Given the description of an element on the screen output the (x, y) to click on. 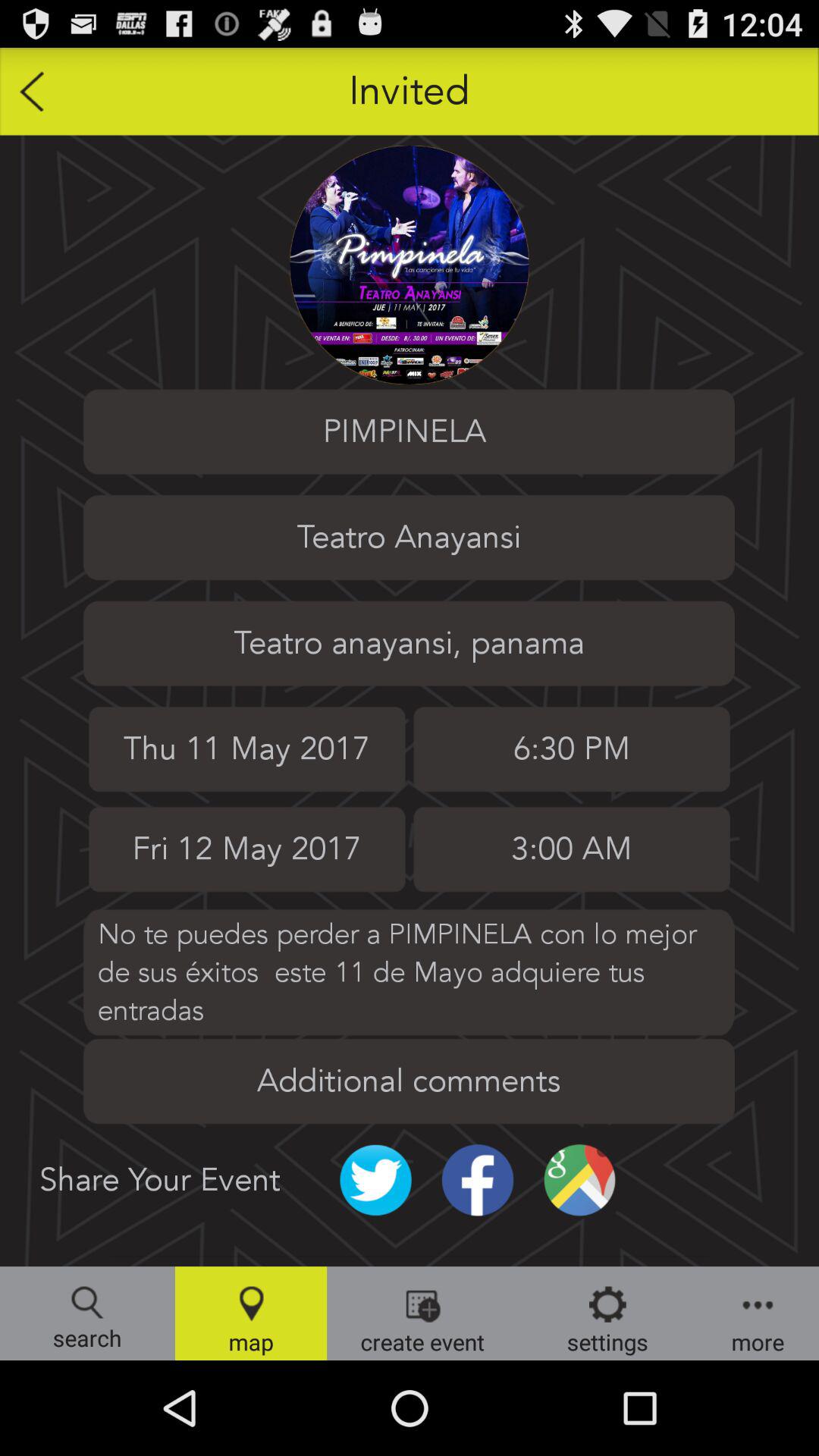
select the time 630 pm (571, 749)
select the time 300 am (571, 849)
select the settings icon (607, 1312)
select additional comments (408, 1081)
select the date next to 300 am (246, 849)
select the image which is below invited (409, 264)
click on the more option at the bottom right corner (757, 1312)
